Given the description of an element on the screen output the (x, y) to click on. 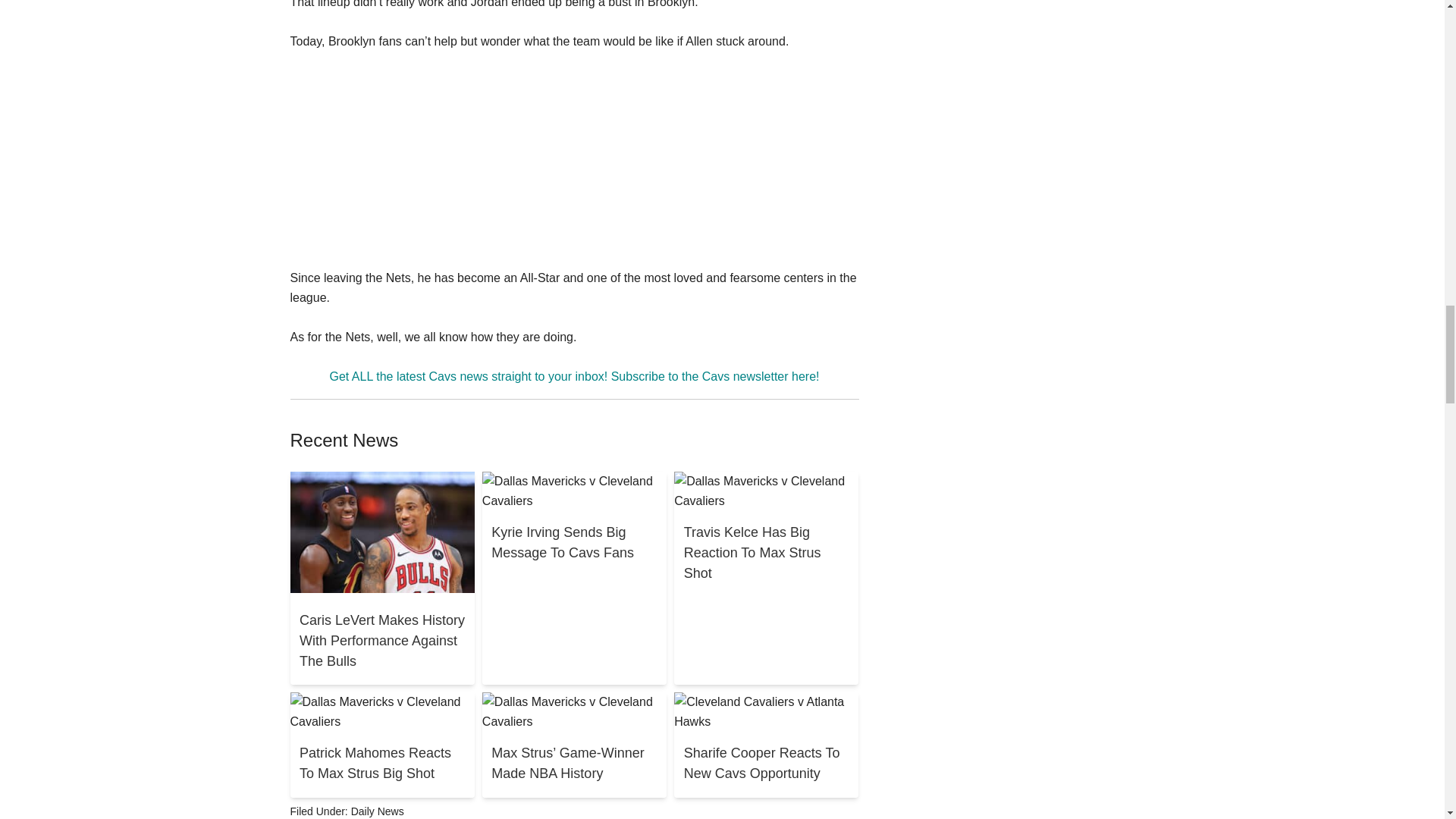
Travis Kelce Has Big Reaction To Max Strus Shot (766, 552)
Daily News (377, 811)
